Given the description of an element on the screen output the (x, y) to click on. 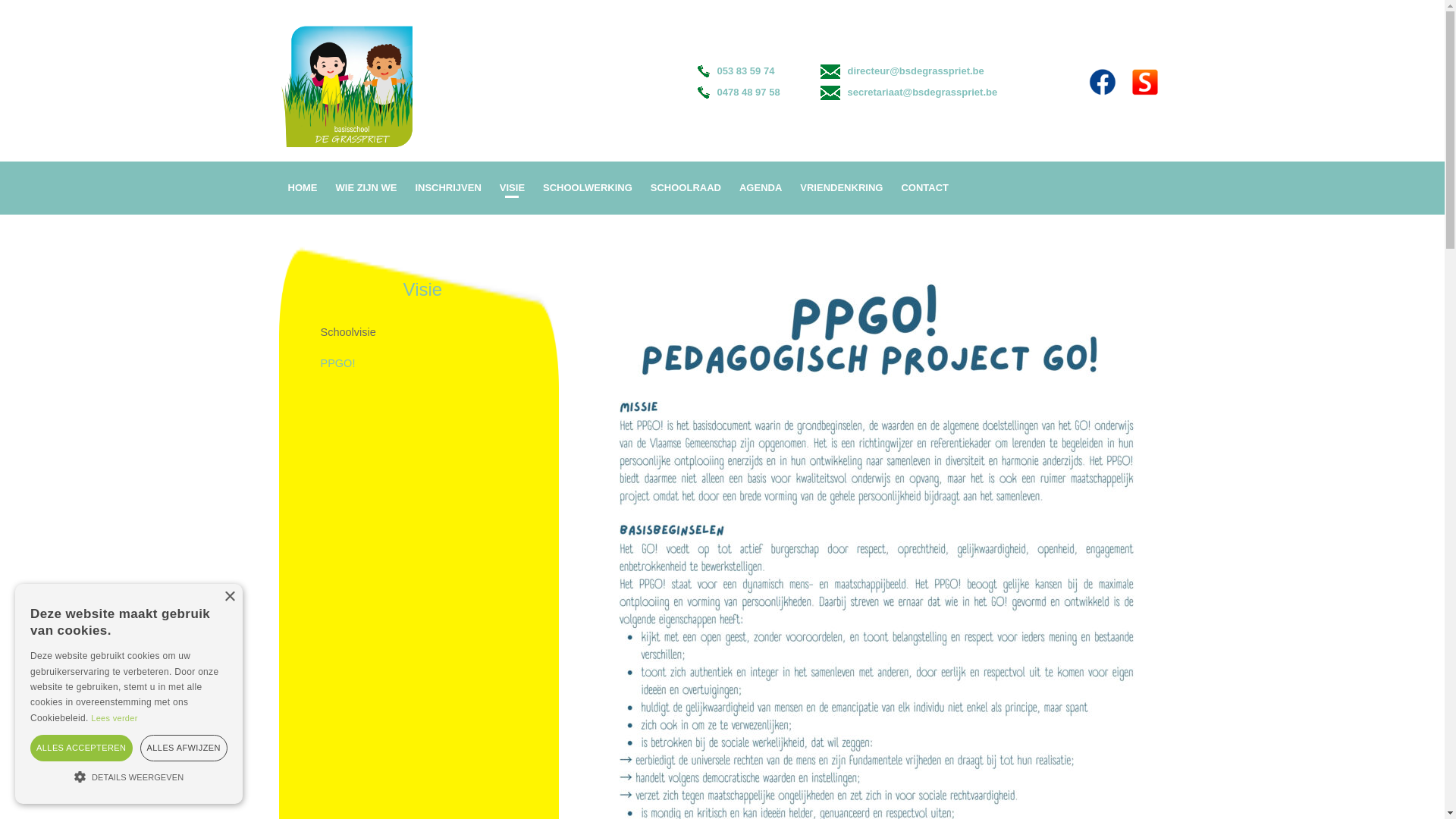
SCHOOLWERKING Element type: text (587, 187)
CONTACT Element type: text (924, 187)
VISIE Element type: text (511, 187)
INSCHRIJVEN Element type: text (447, 187)
Lees verder Element type: text (114, 717)
0478 48 97 58 Element type: text (747, 92)
VRIENDENKRING Element type: text (840, 187)
SCHOOLRAAD Element type: text (685, 187)
AGENDA Element type: text (760, 187)
secretariaat@bsdegrasspriet.be Element type: text (908, 92)
053 83 59 74 Element type: text (747, 70)
directeur@bsdegrasspriet.be Element type: text (902, 70)
WIE ZIJN WE Element type: text (365, 187)
HOME Element type: text (302, 187)
Schoolvisie Element type: text (429, 332)
PPGO! Element type: text (429, 363)
